Given the description of an element on the screen output the (x, y) to click on. 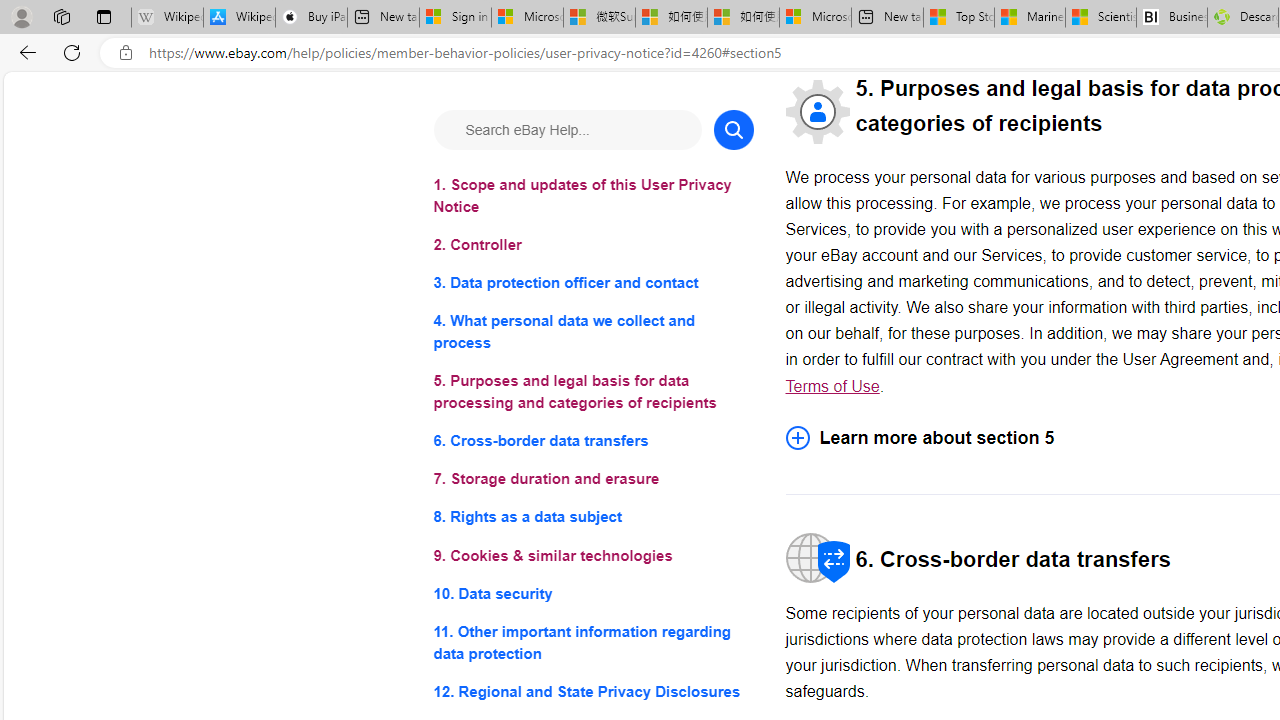
11. Other important information regarding data protection (592, 642)
12. Regional and State Privacy Disclosures (592, 690)
3. Data protection officer and contact (592, 283)
9. Cookies & similar technologies (592, 555)
10. Data security (592, 592)
2. Controller (592, 245)
9. Cookies & similar technologies (592, 555)
